Given the description of an element on the screen output the (x, y) to click on. 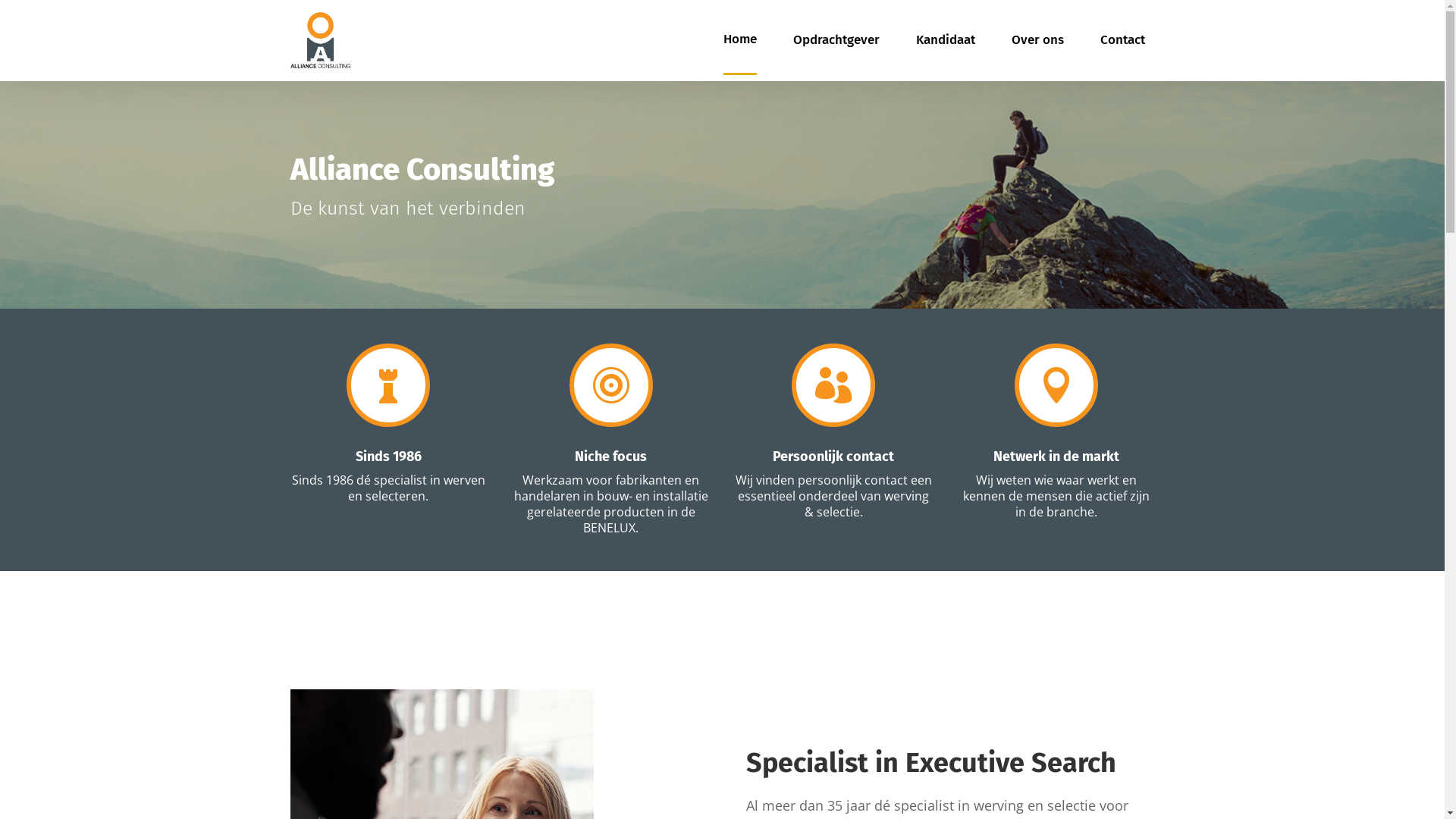
Over ons Element type: text (1037, 40)
Kandidaat Element type: text (945, 40)
Opdrachtgever Element type: text (836, 40)
Home Element type: text (739, 40)
Contact Element type: text (1121, 40)
